Given the description of an element on the screen output the (x, y) to click on. 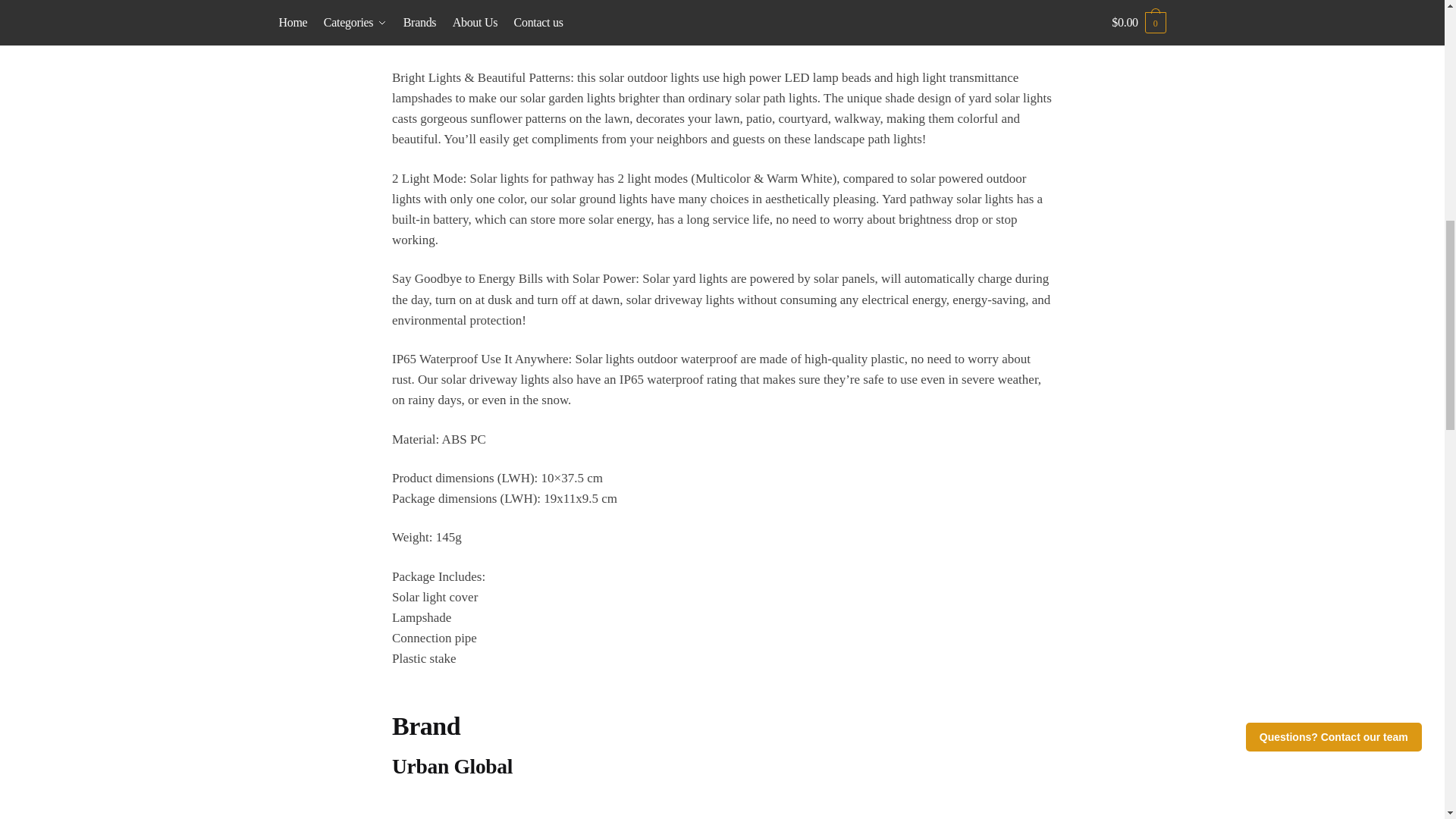
Urban Global (721, 804)
